Given the description of an element on the screen output the (x, y) to click on. 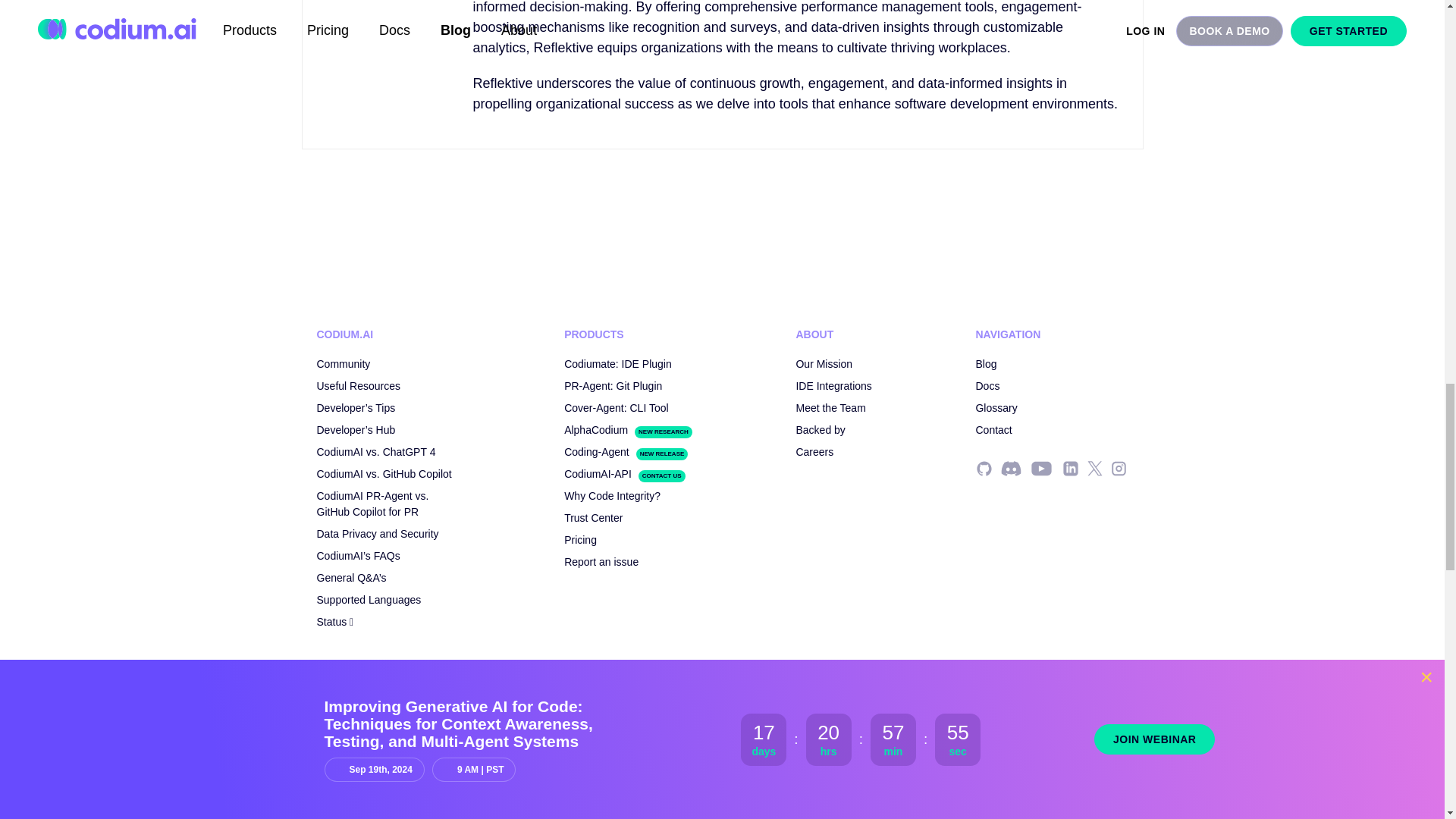
Community (344, 363)
Cover-Agent: CLI Tool  (617, 408)
CodiumAI vs. ChatGPT 4 (376, 451)
CodiumAI vs. GitHub Copilot (384, 473)
Data Privacy and Security (378, 533)
AlphaCodium NEW RESEARCH (628, 429)
Useful Resources (359, 386)
PR-Agent: Git Plugin (613, 386)
Codiumate: IDE Plugin (617, 363)
Supported Languages (369, 599)
